Given the description of an element on the screen output the (x, y) to click on. 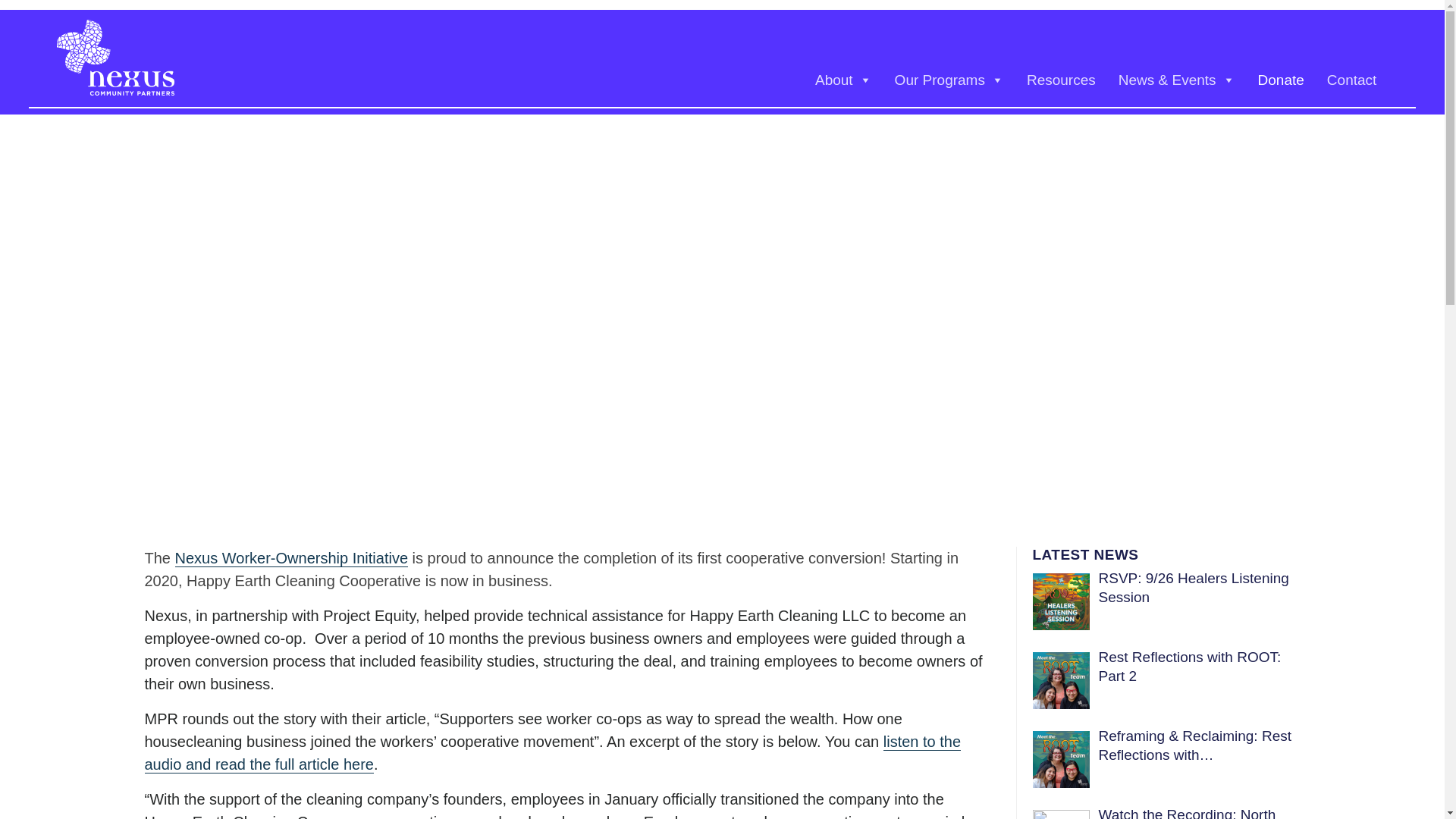
listen to the audio and read the full article here (552, 753)
Nexus Worker-Ownership Initiative (291, 558)
Donate (1281, 80)
Resources (1060, 80)
Contact (1351, 80)
About (843, 80)
Our Programs (948, 80)
Watch the Recording: North Star Info Session (1186, 814)
Rest Reflections with ROOT: Part 2 (1189, 667)
